Given the description of an element on the screen output the (x, y) to click on. 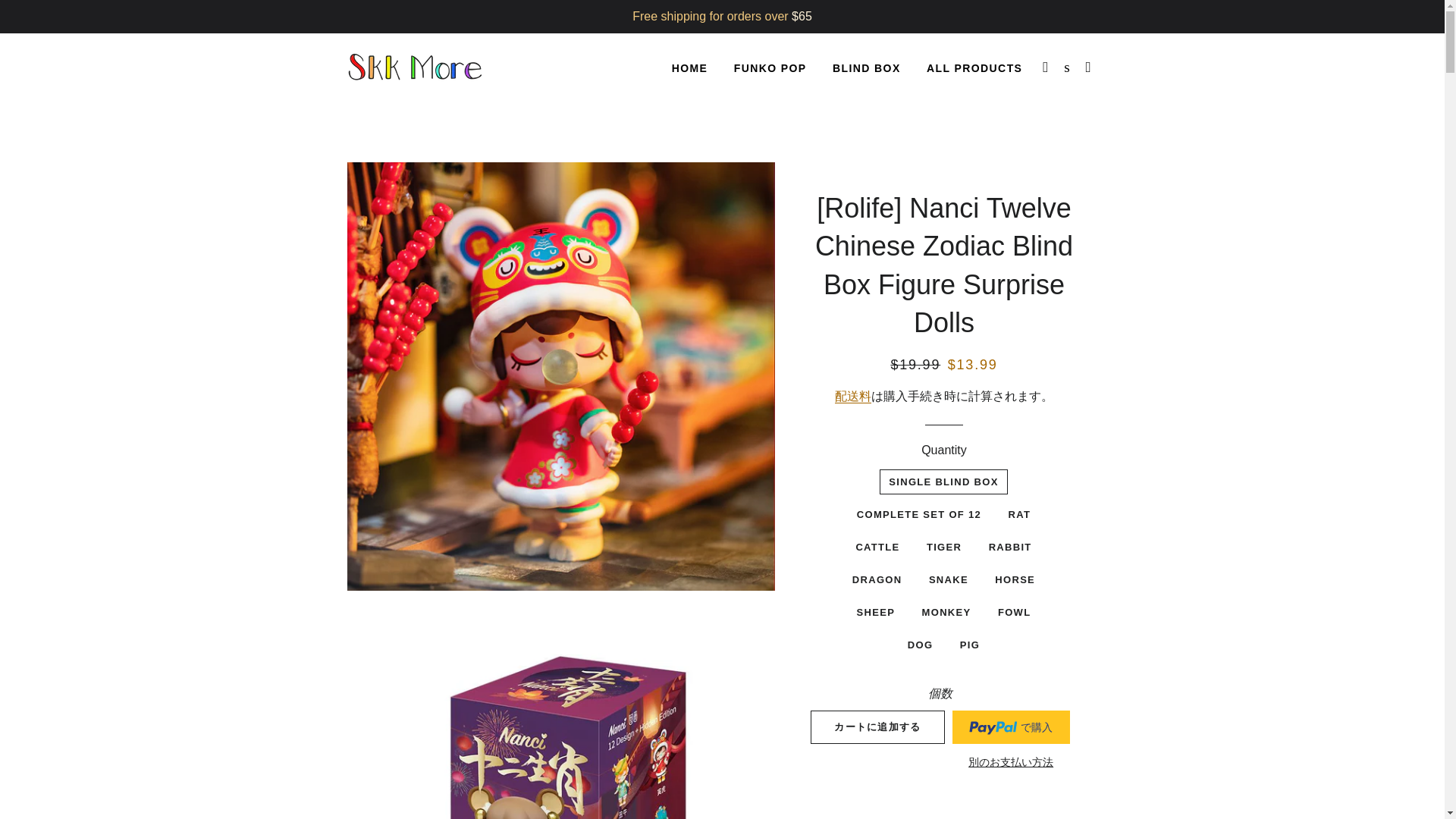
ALL PRODUCTS (974, 68)
FUNKO POP (770, 68)
HOME (690, 68)
